Given the description of an element on the screen output the (x, y) to click on. 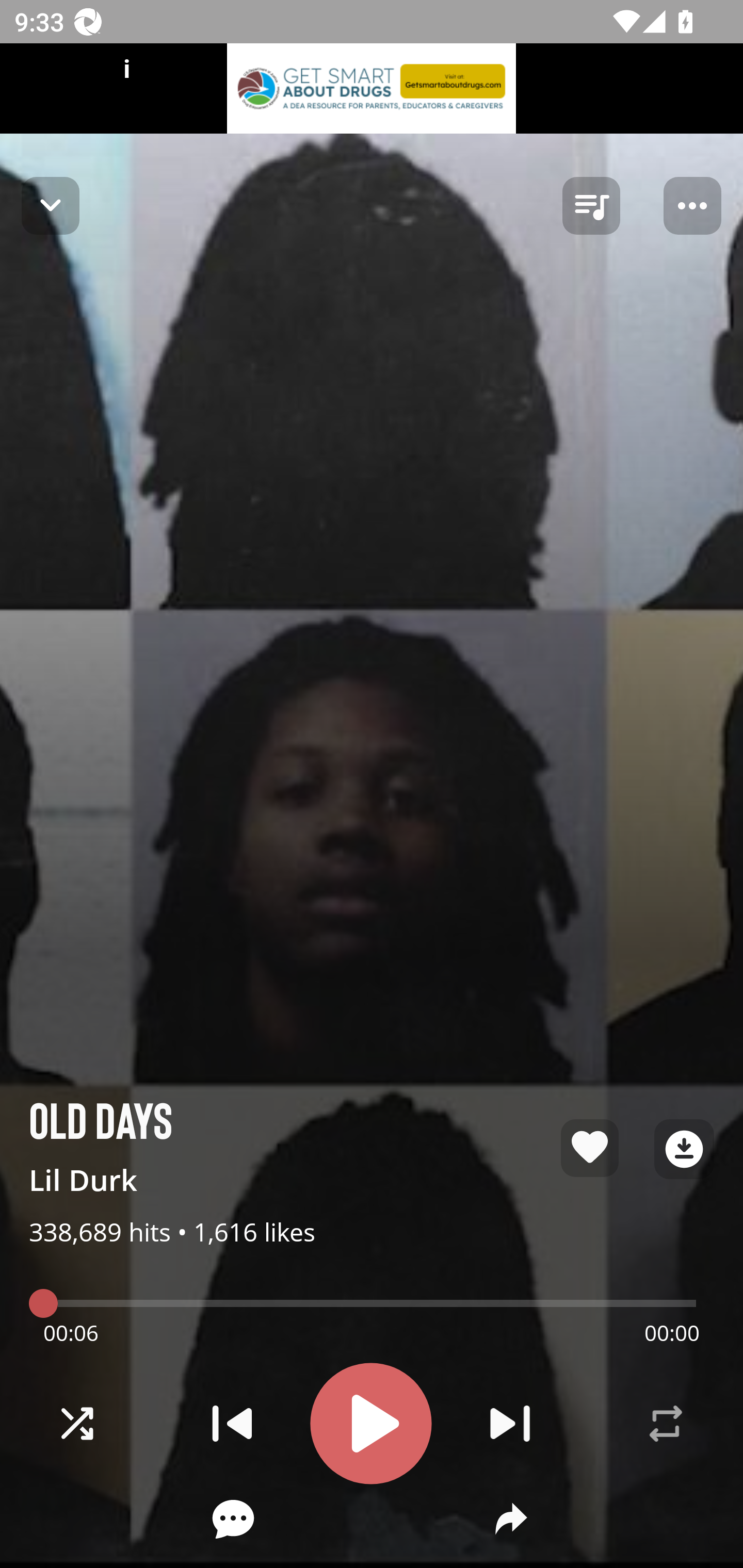
Navigate up (50, 205)
queue (590, 206)
Player options (692, 206)
